Given the description of an element on the screen output the (x, y) to click on. 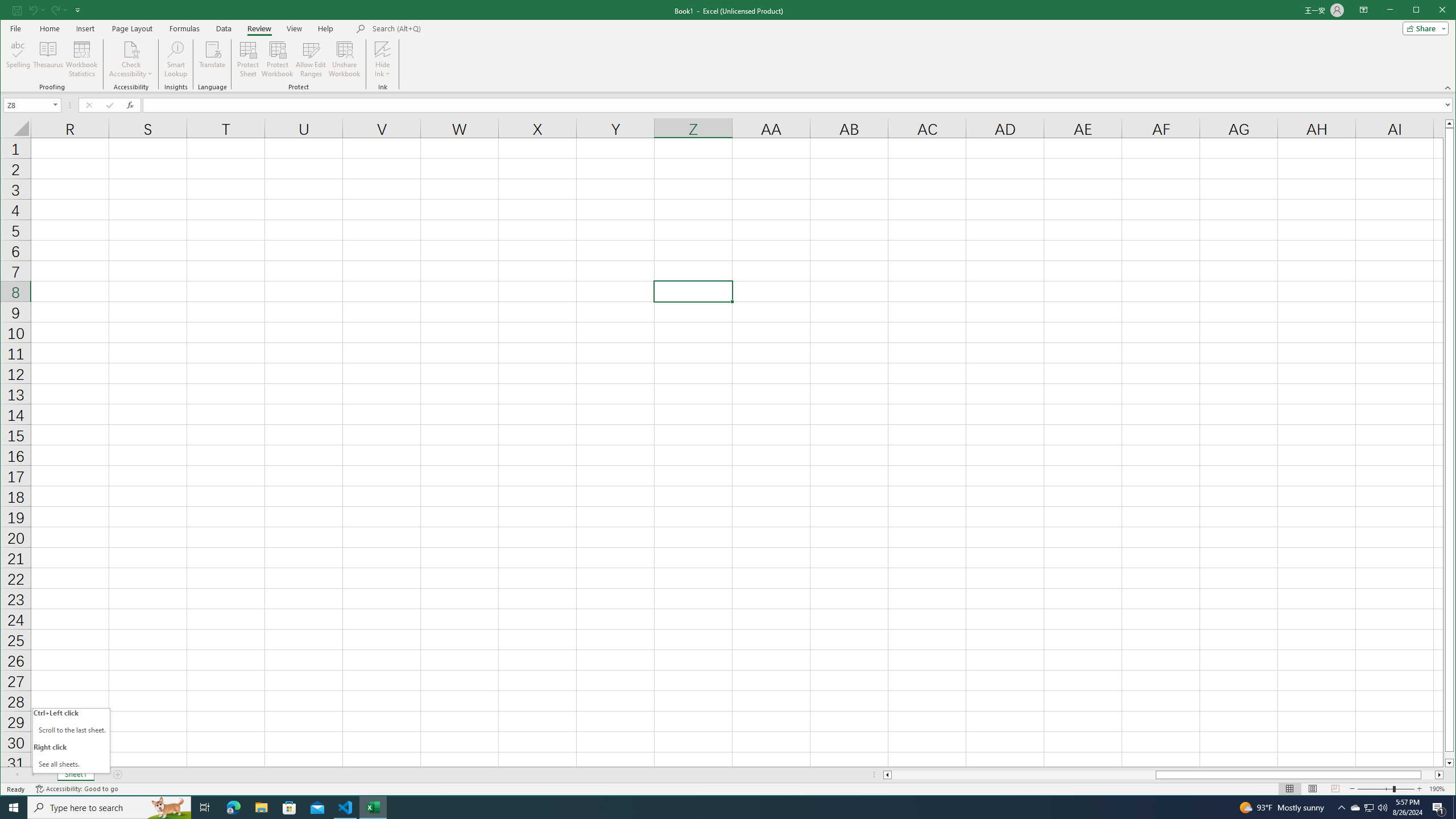
User Promoted Notification Area (1368, 807)
Type here to search (108, 807)
Microsoft Edge (233, 807)
Class: MsoCommandBar (728, 45)
Thesaurus... (1368, 807)
